Given the description of an element on the screen output the (x, y) to click on. 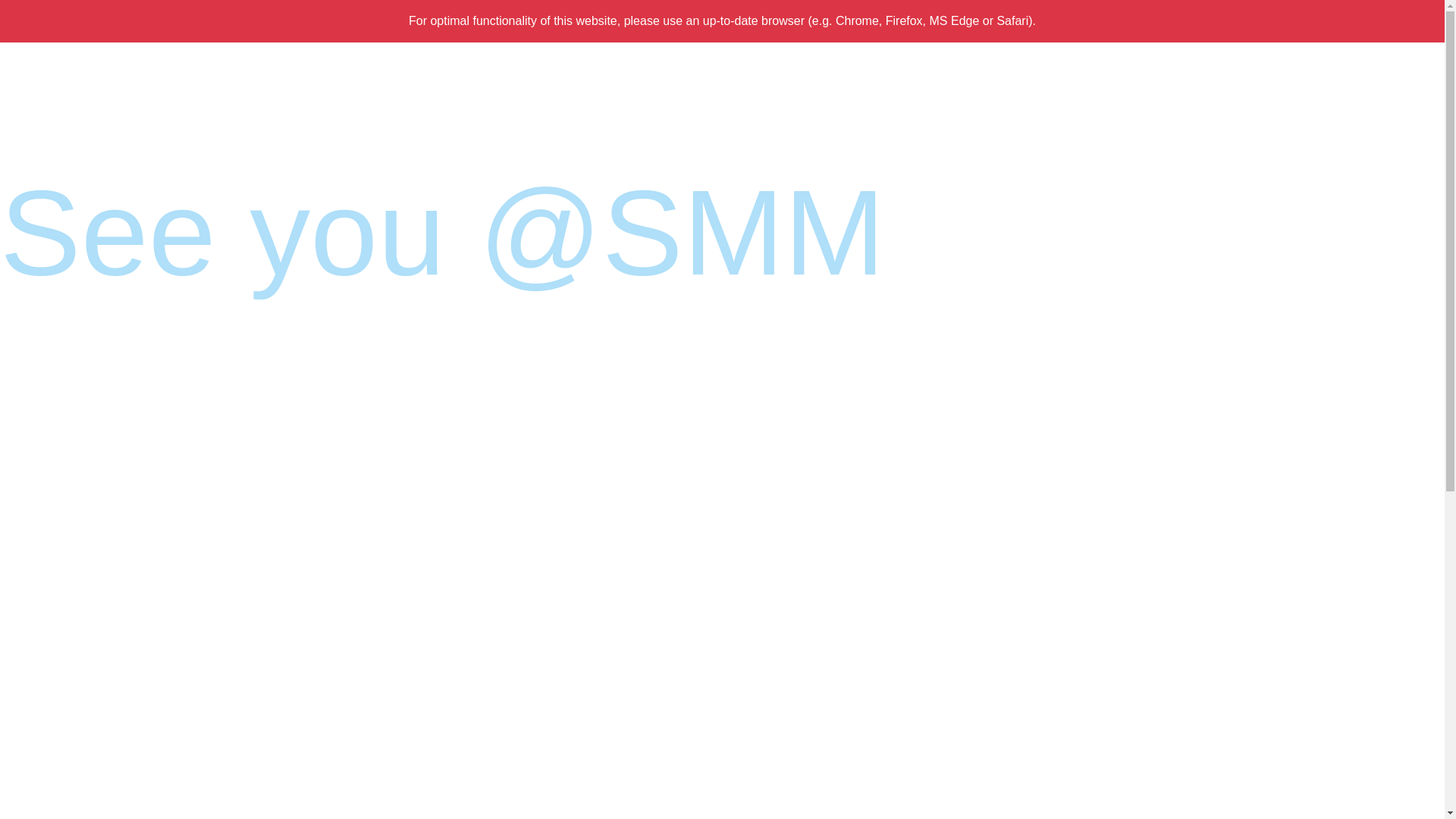
Exhibit (571, 127)
The MARINE INTERIORS (271, 127)
Newsletter (1275, 57)
LinkedIn (1329, 57)
LinkedIn (1329, 57)
Newsletter (1275, 57)
Deutsch (1395, 57)
Deutsch (1395, 57)
